Given the description of an element on the screen output the (x, y) to click on. 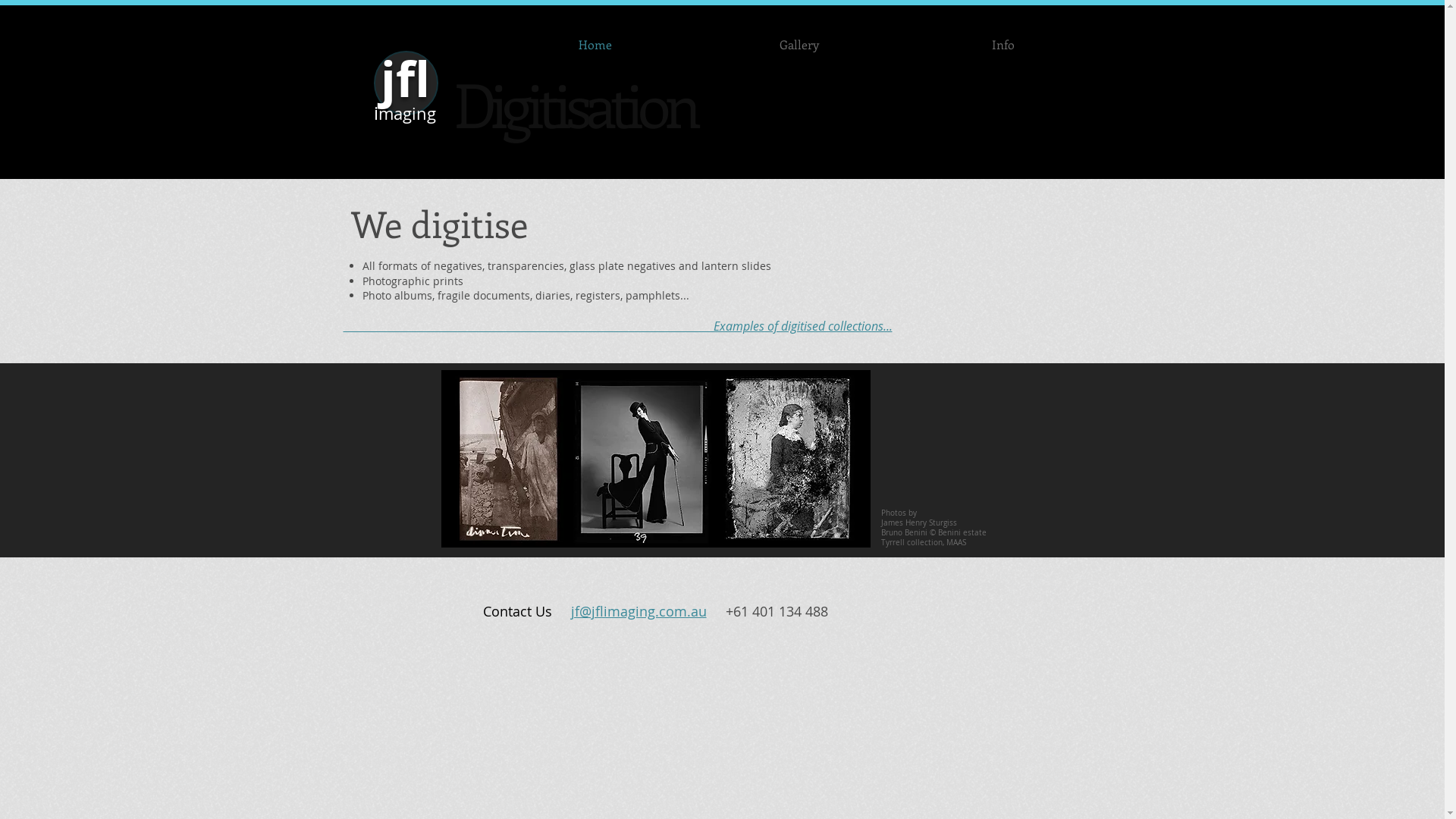
imaging Element type: text (404, 111)
Info Element type: text (1002, 44)
Contact Us     jf@jflimaging.com.au     Element type: text (603, 611)
Home Element type: text (594, 44)
jfl Element type: text (404, 78)
Gallery Element type: text (799, 44)
